Given the description of an element on the screen output the (x, y) to click on. 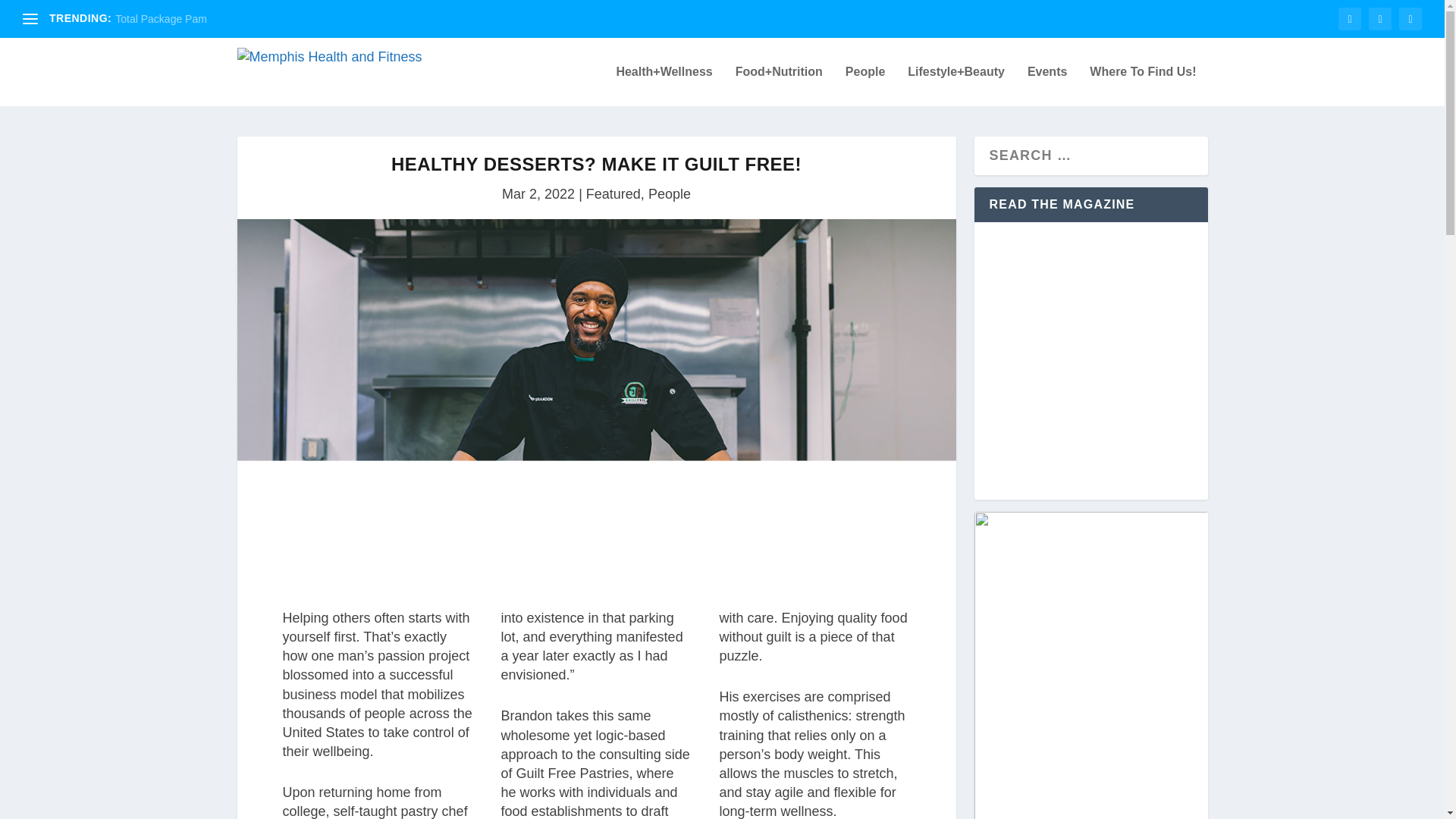
Events (1047, 86)
Search (37, 15)
Total Package Pam (160, 19)
People (865, 86)
People (668, 193)
Featured (613, 193)
Where To Find Us! (1142, 86)
